Given the description of an element on the screen output the (x, y) to click on. 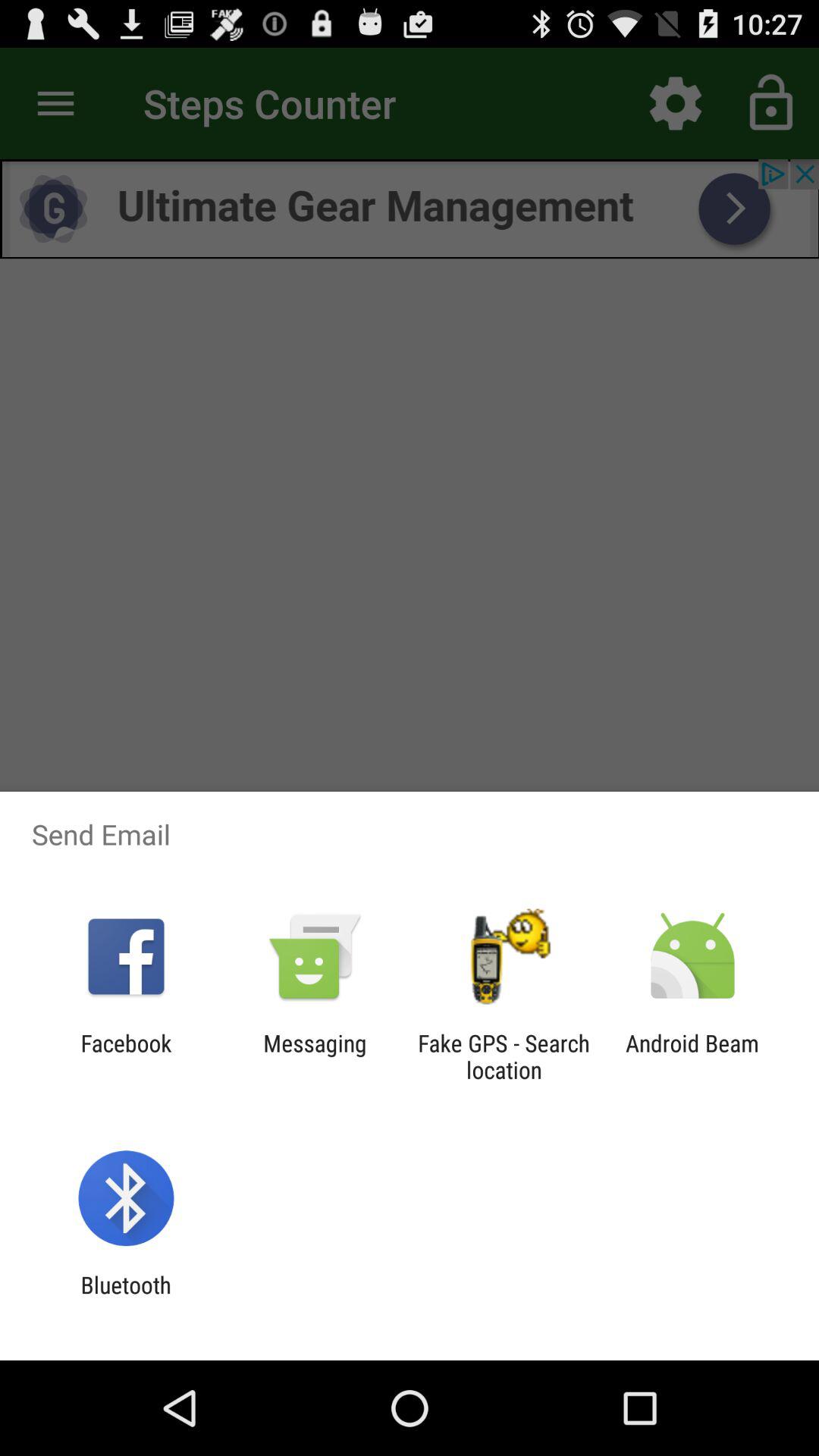
launch the app to the left of the messaging item (125, 1056)
